Given the description of an element on the screen output the (x, y) to click on. 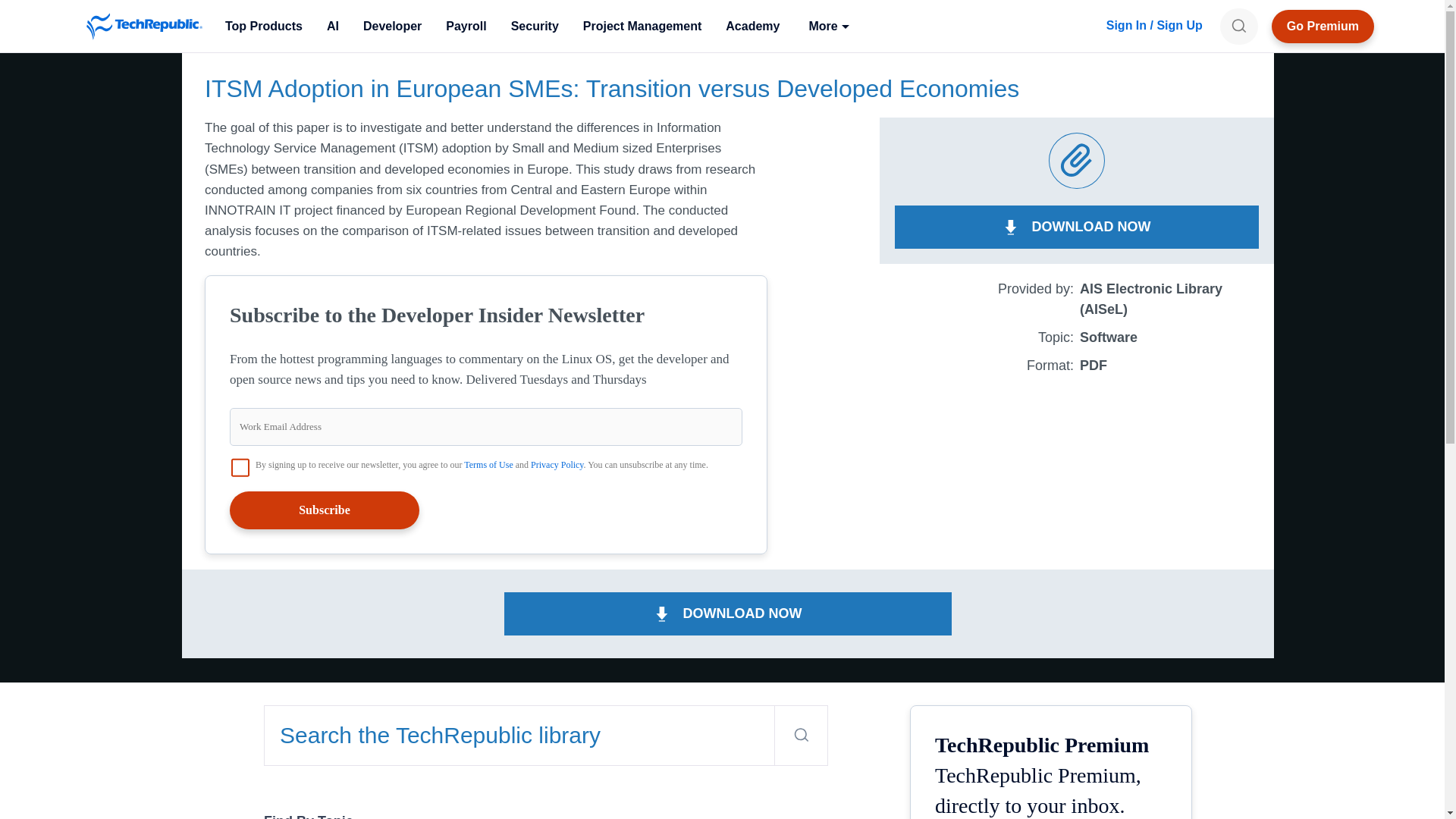
DOWNLOAD NOW (727, 613)
Top Products (263, 26)
TechRepublic (143, 25)
DOWNLOAD NOW (1077, 226)
Terms of Use (488, 464)
TechRepublic Premium (1322, 25)
Payroll (465, 26)
Project Management (641, 26)
Go Premium (1322, 25)
Privacy Policy (557, 464)
